Given the description of an element on the screen output the (x, y) to click on. 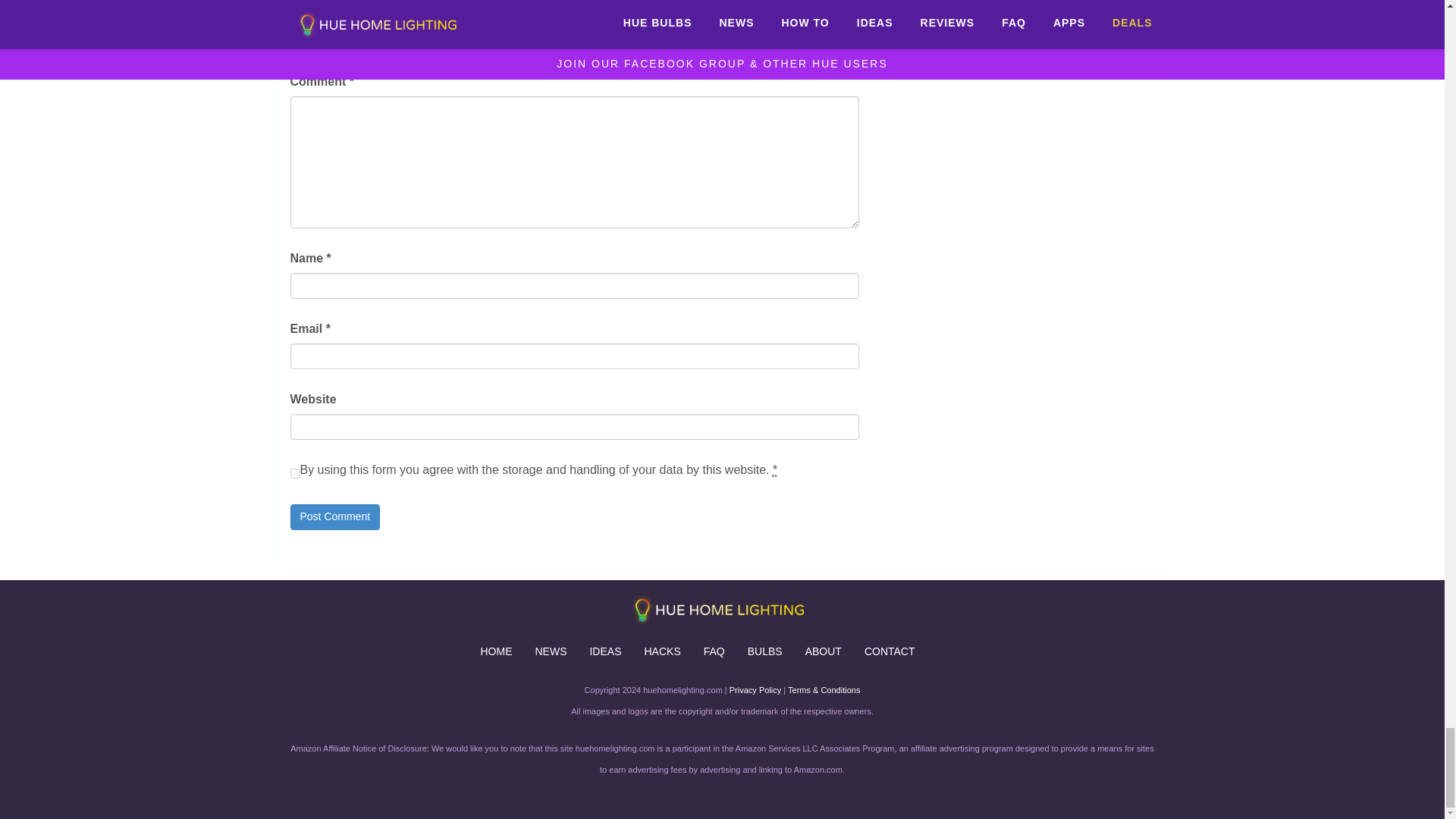
HOME (495, 650)
NEWS (550, 650)
HACKS (661, 650)
IDEAS (604, 650)
Post Comment (334, 516)
Post Comment (334, 516)
